Given the description of an element on the screen output the (x, y) to click on. 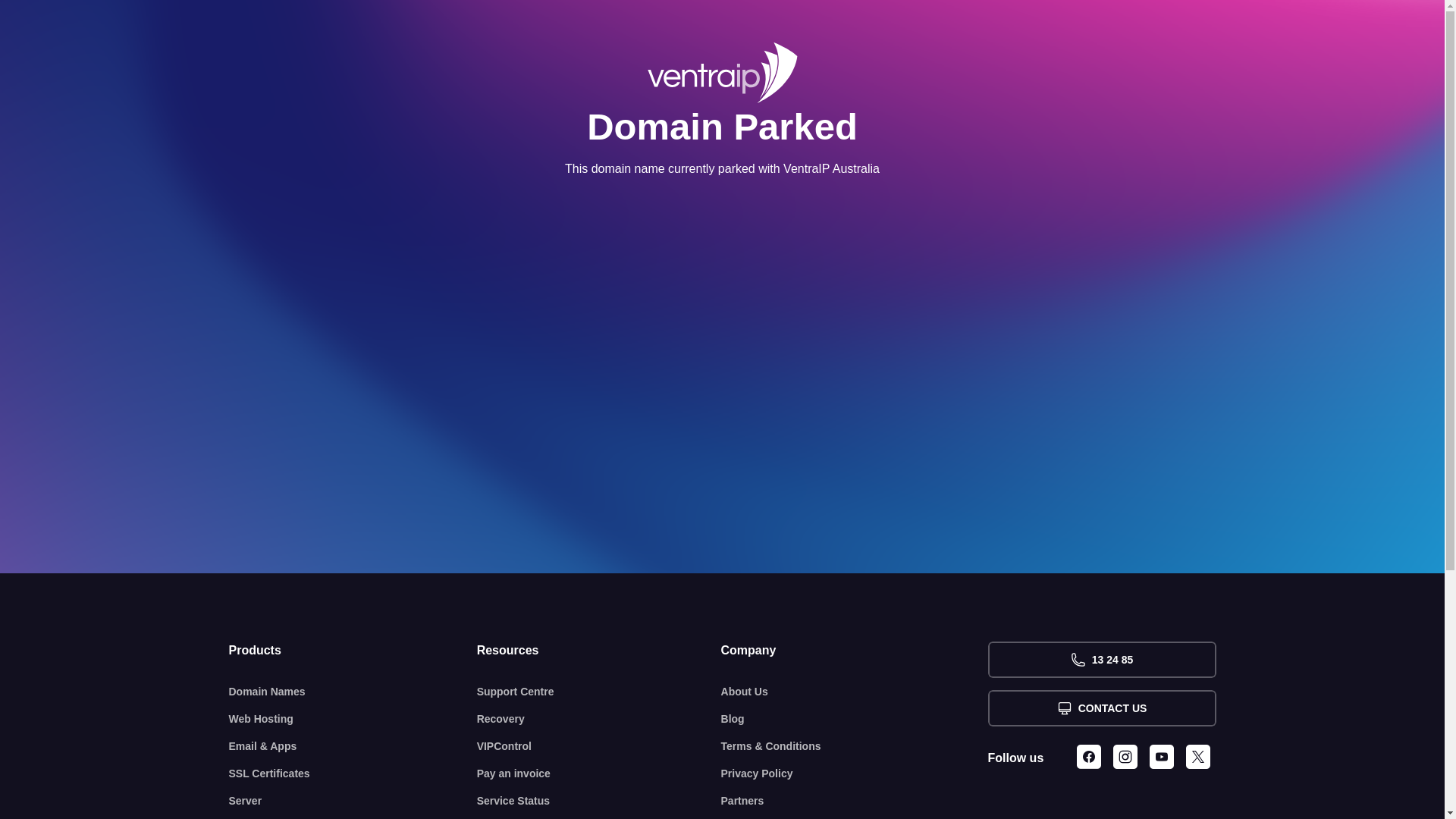
Pay an invoice Element type: text (598, 773)
VIPControl Element type: text (598, 745)
Terms & Conditions Element type: text (854, 745)
Service Status Element type: text (598, 800)
Support Centre Element type: text (598, 691)
Domain Names Element type: text (352, 691)
Web Hosting Element type: text (352, 718)
Recovery Element type: text (598, 718)
Blog Element type: text (854, 718)
Partners Element type: text (854, 800)
Email & Apps Element type: text (352, 745)
13 24 85 Element type: text (1101, 659)
SSL Certificates Element type: text (352, 773)
Privacy Policy Element type: text (854, 773)
About Us Element type: text (854, 691)
Server Element type: text (352, 800)
CONTACT US Element type: text (1101, 708)
